Given the description of an element on the screen output the (x, y) to click on. 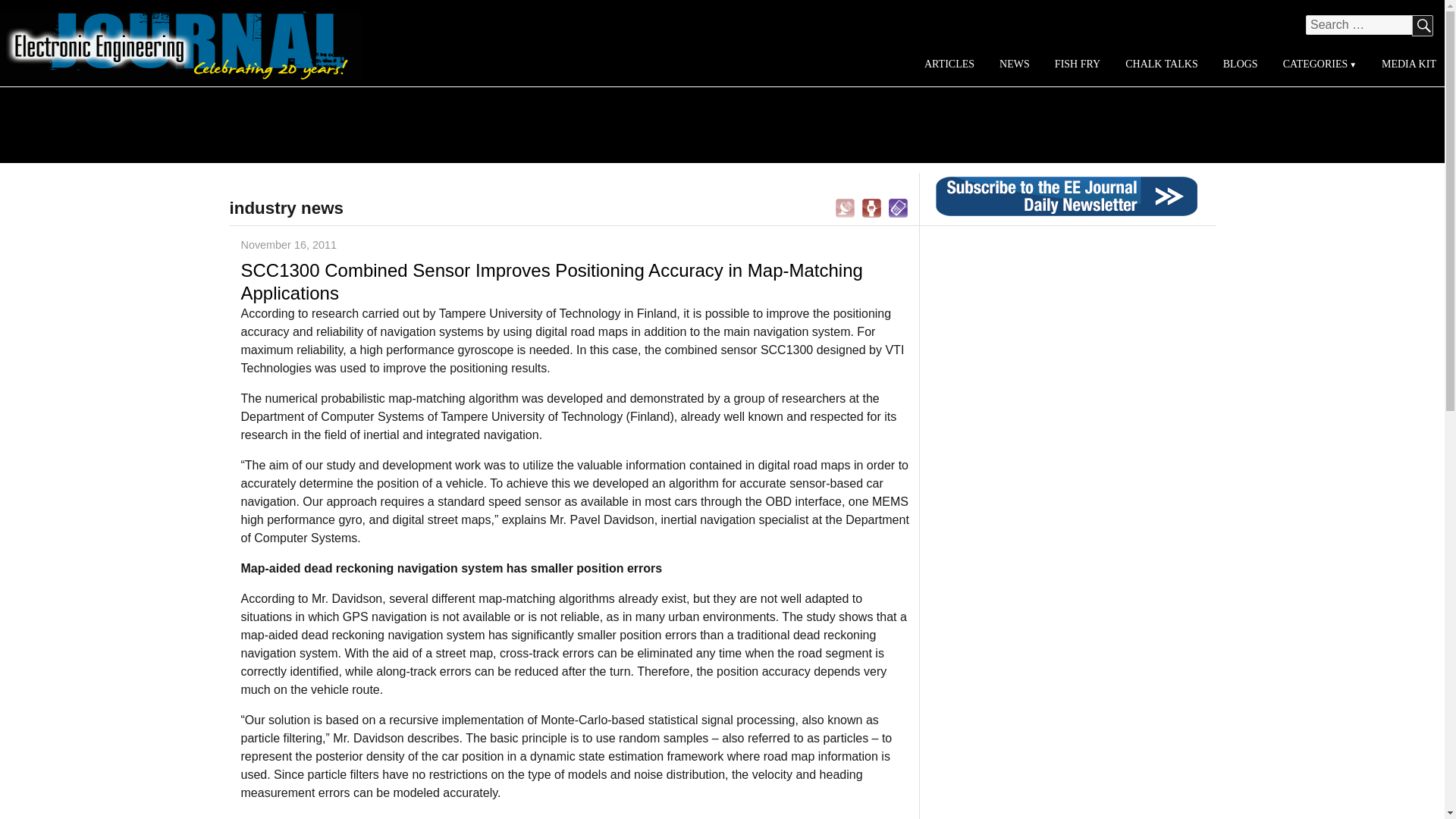
Embedded (872, 206)
FISH FRY (1077, 63)
CATEGORIES (1318, 63)
BLOGS (1239, 63)
Mobile (898, 206)
CHALK TALKS (1161, 63)
Communications (845, 206)
NEWS (1014, 63)
ARTICLES (949, 63)
